Given the description of an element on the screen output the (x, y) to click on. 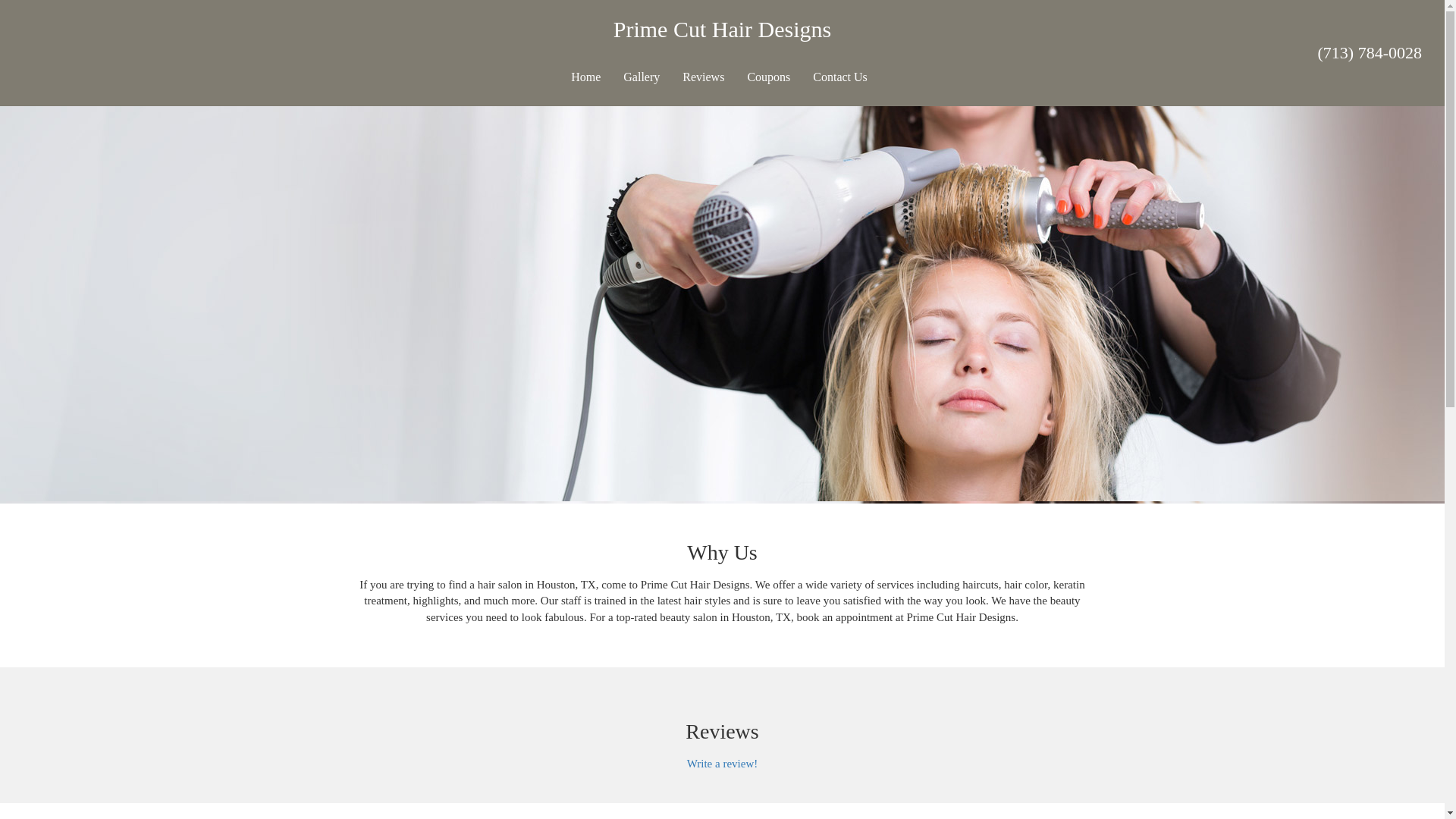
Write a review! (722, 763)
Home (585, 77)
Gallery (640, 77)
Gallery (640, 77)
Reviews (702, 77)
Coupons (767, 77)
Home (585, 77)
Reviews (702, 77)
Contact Us (840, 77)
Contact Us (840, 77)
Coupons (767, 77)
